Given the description of an element on the screen output the (x, y) to click on. 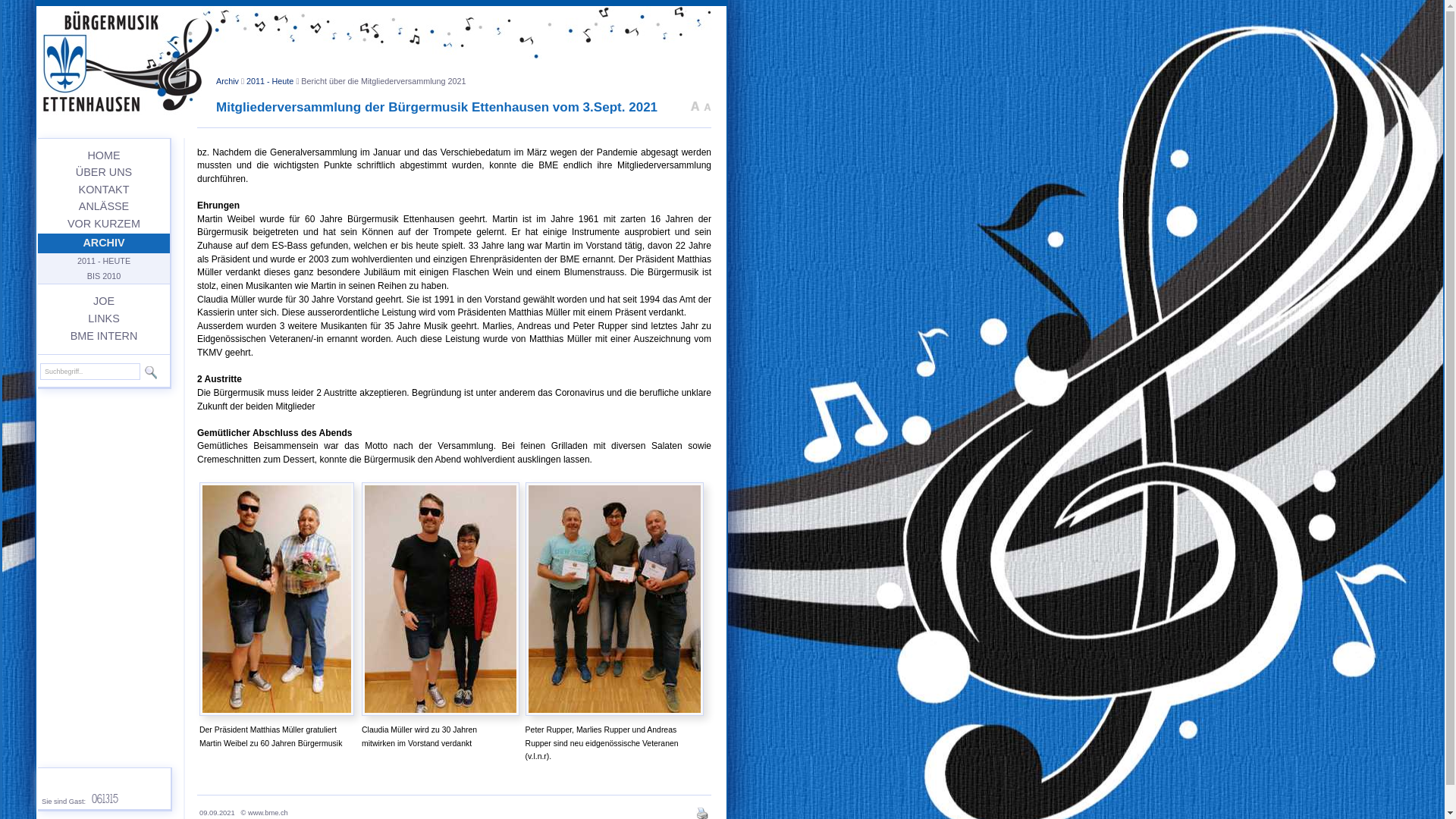
BIS 2010 Element type: text (103, 275)
Archiv Element type: text (227, 80)
LINKS Element type: text (103, 318)
2011 - Heute Element type: text (269, 80)
VOR KURZEM Element type: text (103, 223)
JOE Element type: text (103, 300)
BME INTERN Element type: text (104, 335)
ARCHIV Element type: text (103, 242)
KONTAKT Element type: text (103, 189)
2011 - HEUTE Element type: text (103, 260)
HOME Element type: text (103, 155)
